Given the description of an element on the screen output the (x, y) to click on. 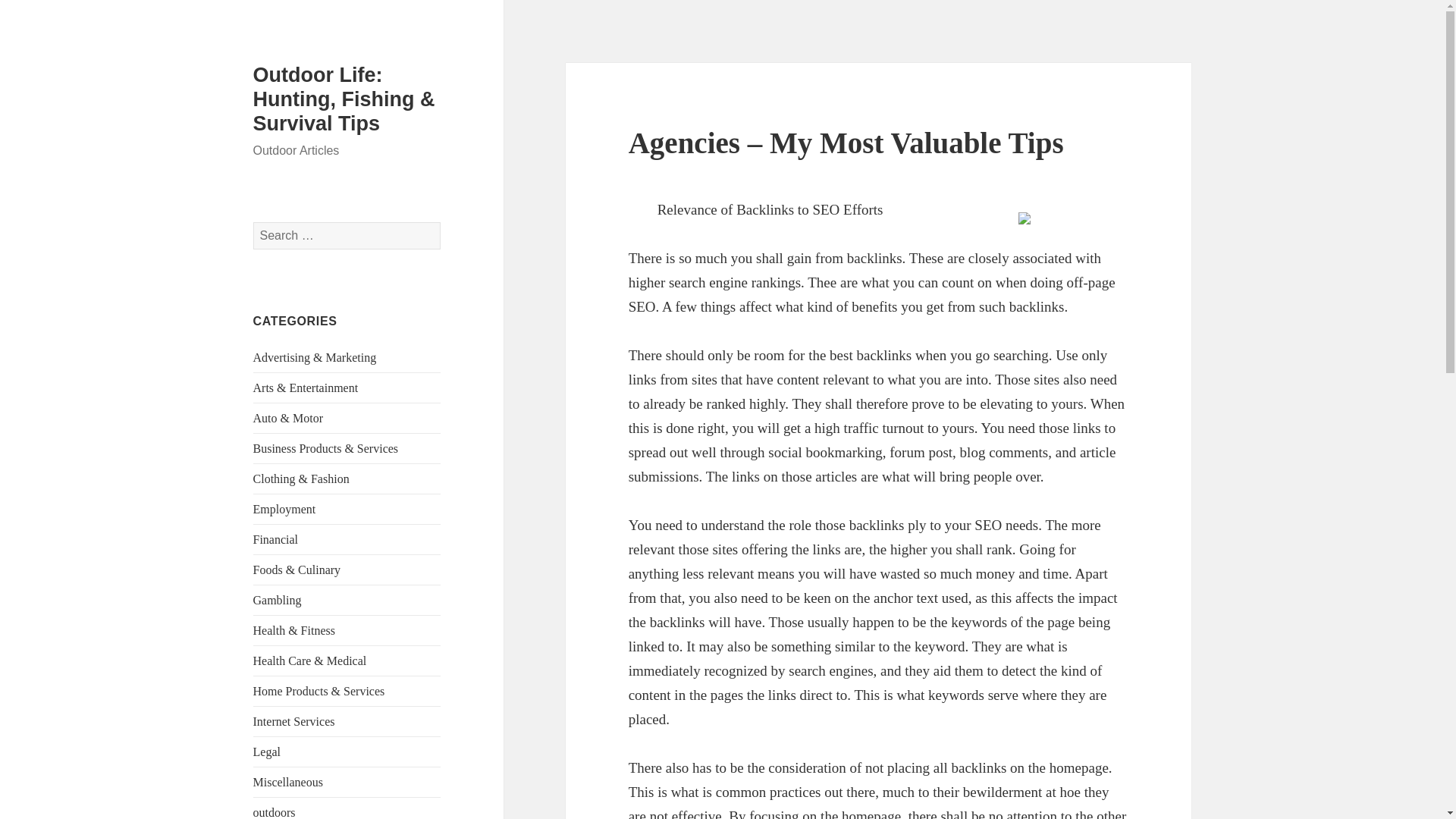
Miscellaneous (288, 781)
outdoors (274, 812)
Financial (275, 539)
Internet Services (293, 721)
Legal (267, 751)
Gambling (277, 599)
Employment (284, 508)
